Given the description of an element on the screen output the (x, y) to click on. 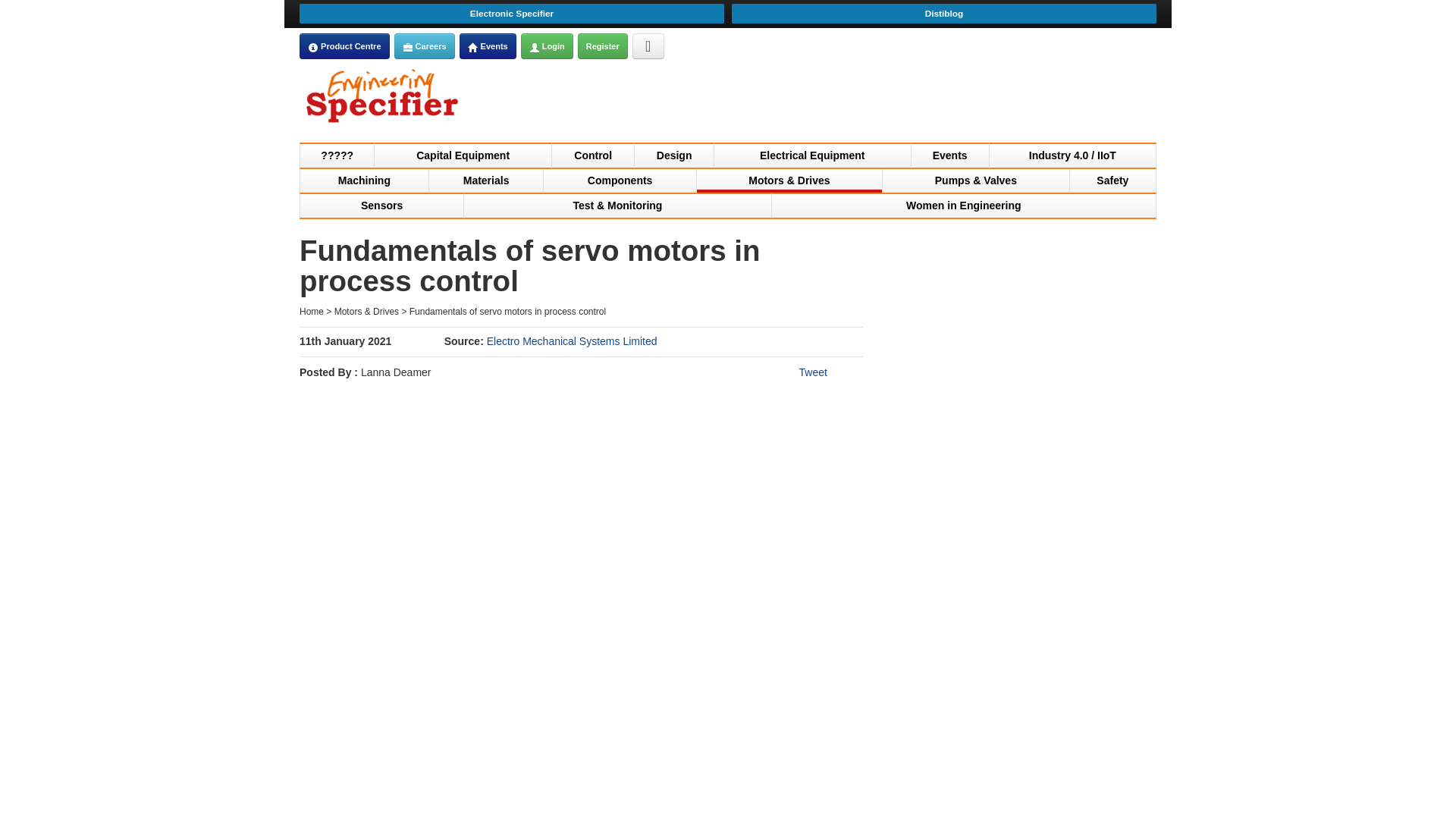
3rd party ad content (880, 100)
 Product Centre (344, 45)
Careers (408, 47)
Login (547, 45)
Distiblog (944, 13)
Components (620, 179)
Control (593, 155)
????? (336, 155)
Electro Mechanical Systems Limited (572, 340)
Product Centre (312, 47)
